Given the description of an element on the screen output the (x, y) to click on. 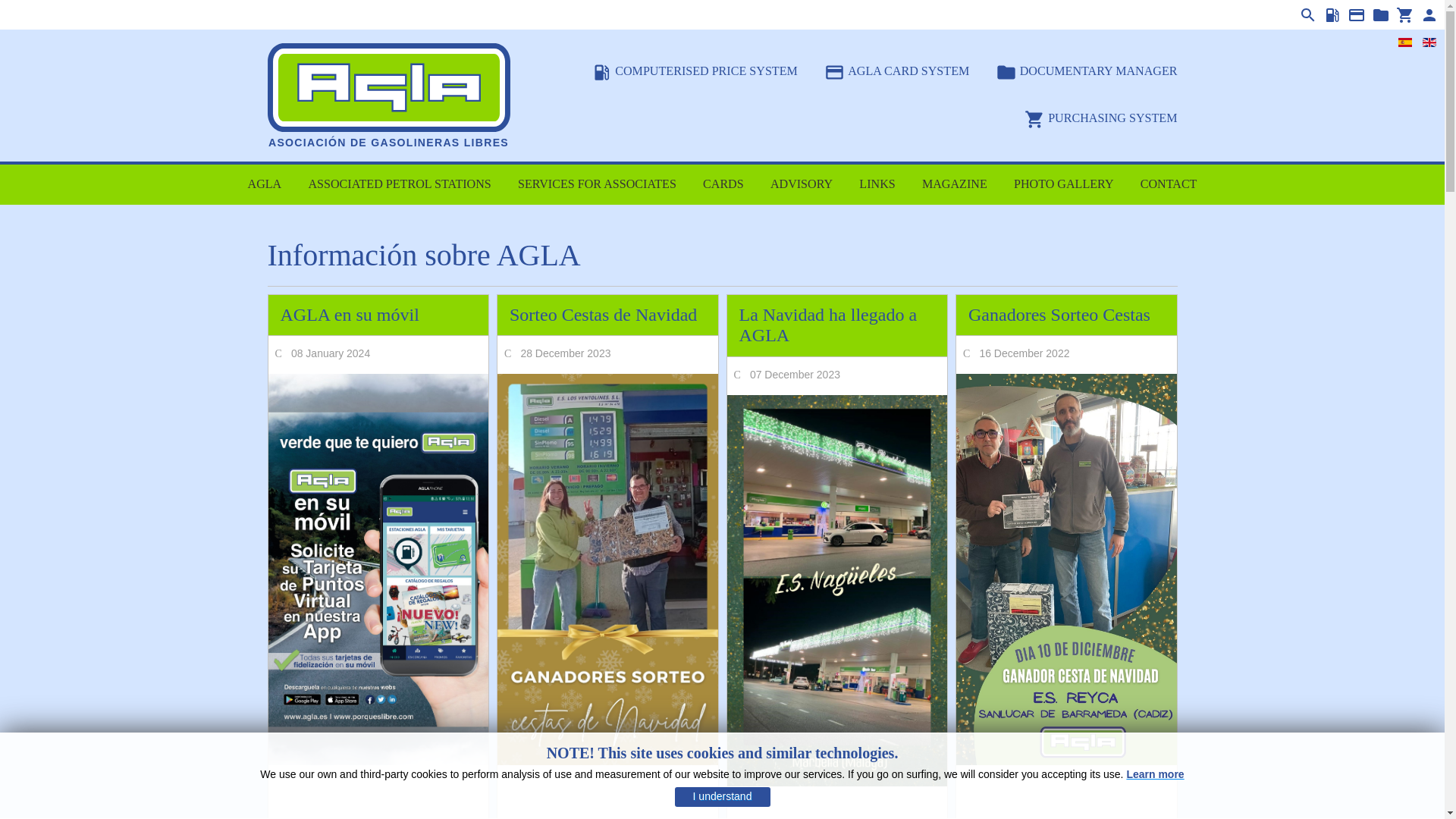
DOCUMENTARY MANAGER (1086, 71)
Documentary Manager (1379, 14)
AGLA CARD SYSTEM (895, 71)
Purchasing System (1403, 14)
COMPUTERISED PRICE SYSTEM (694, 71)
PURCHASING SYSTEM (1100, 118)
Documentary Manager (1086, 71)
Purchasing System (1100, 118)
